Given the description of an element on the screen output the (x, y) to click on. 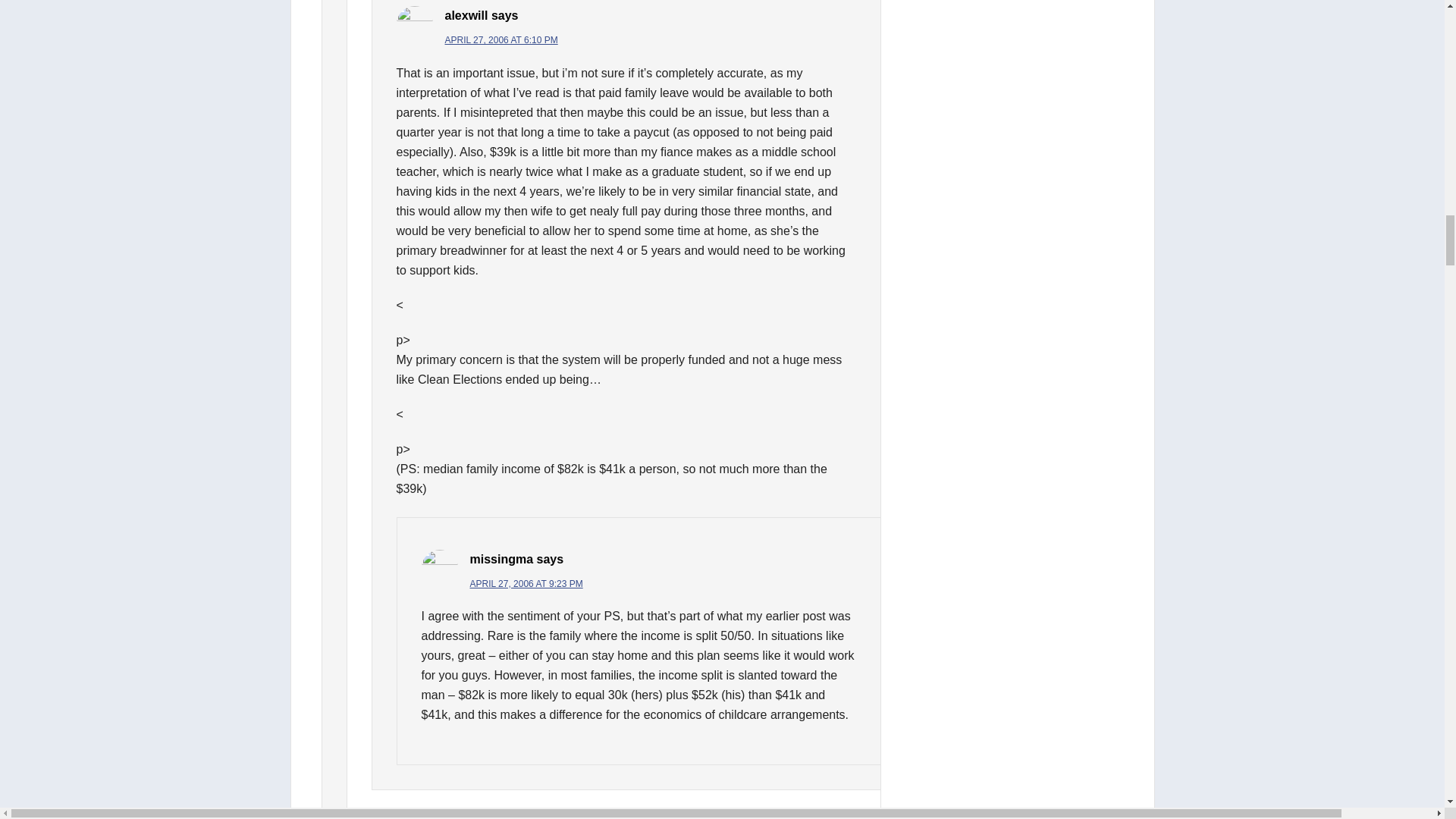
APRIL 27, 2006 AT 9:23 PM (526, 583)
APRIL 27, 2006 AT 6:10 PM (500, 40)
